Given the description of an element on the screen output the (x, y) to click on. 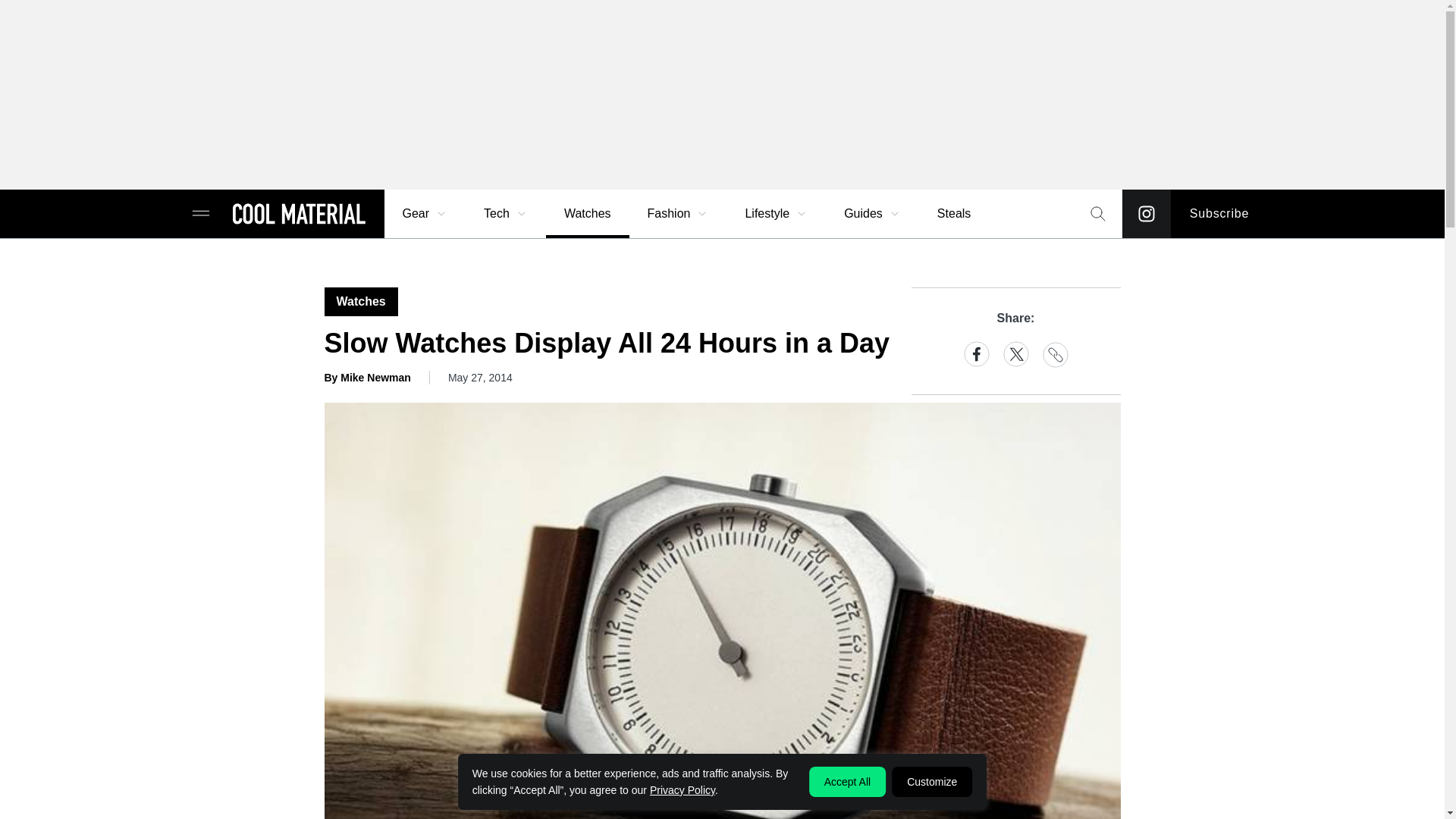
Customize (931, 781)
Accept All (847, 781)
Watches (587, 213)
Lifestyle (775, 213)
Fashion (677, 213)
Privacy Policy (681, 789)
Gear (424, 213)
Tech (505, 213)
